Given the description of an element on the screen output the (x, y) to click on. 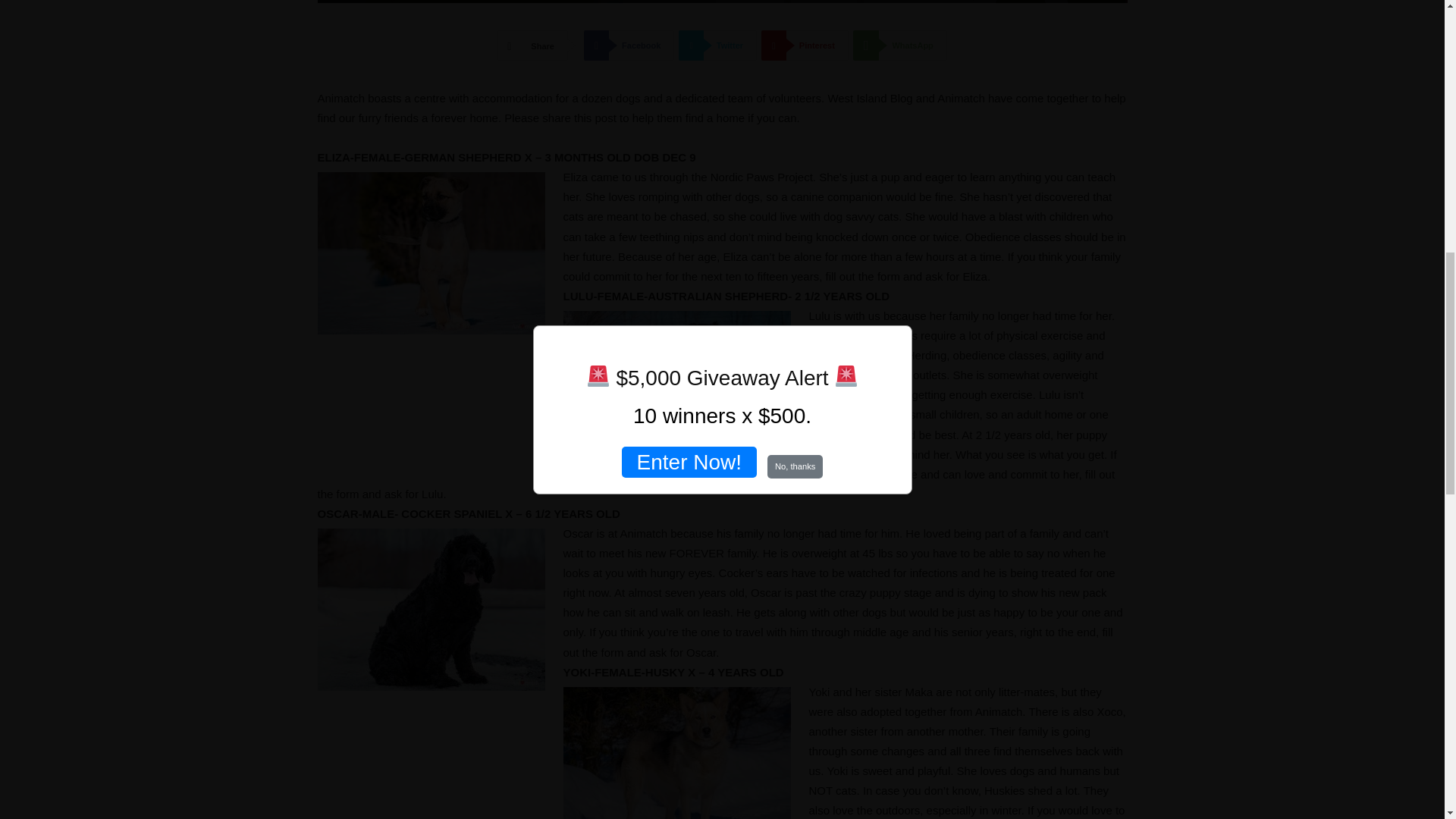
WhatsApp (900, 45)
Pinterest (804, 45)
Pinterest (804, 45)
Facebook (628, 45)
WhatsApp (900, 45)
Facebook (628, 45)
Twitter (717, 45)
Twitter (717, 45)
